Given the description of an element on the screen output the (x, y) to click on. 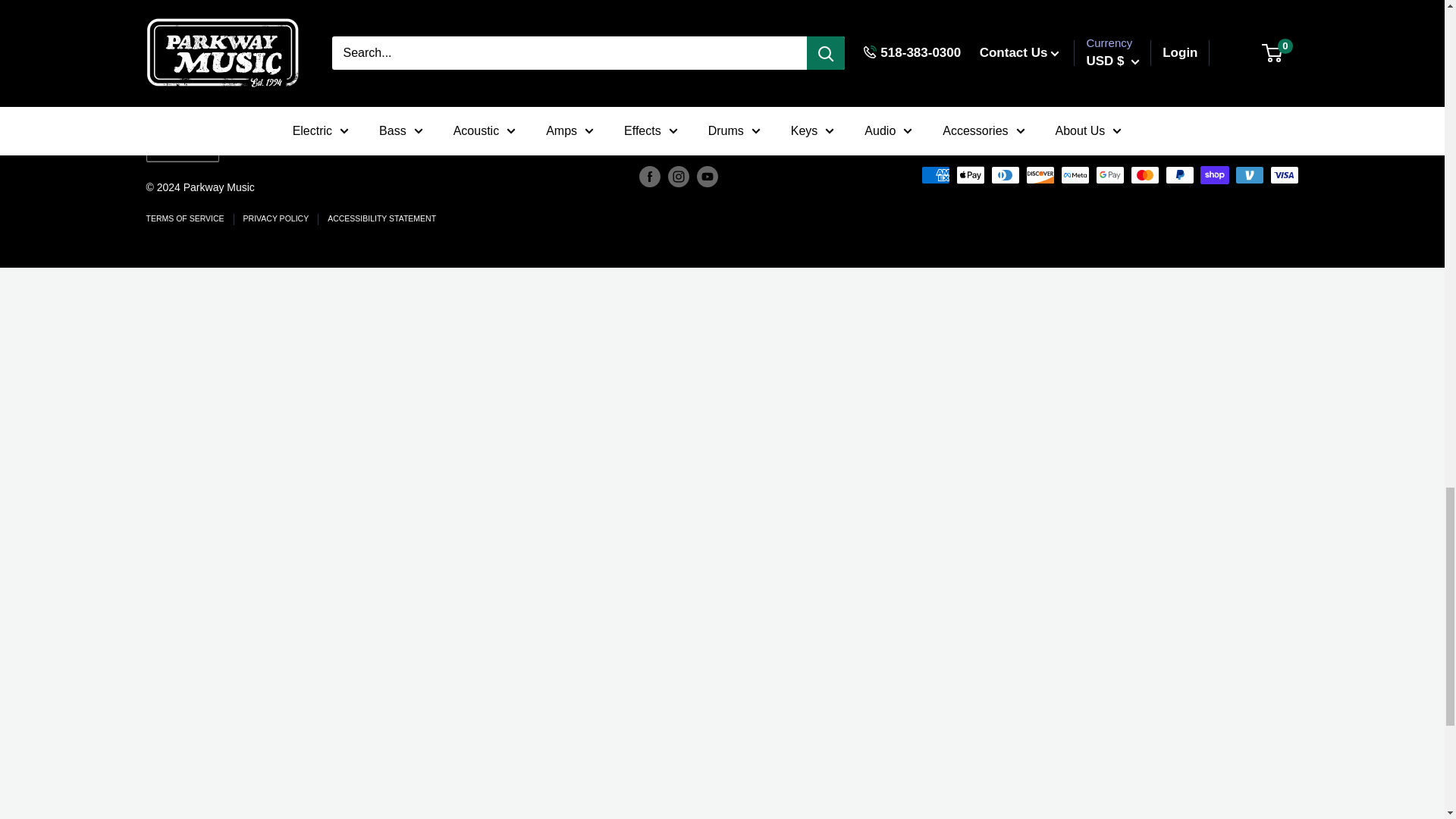
Parkway Music Email Address (1044, 17)
